Given the description of an element on the screen output the (x, y) to click on. 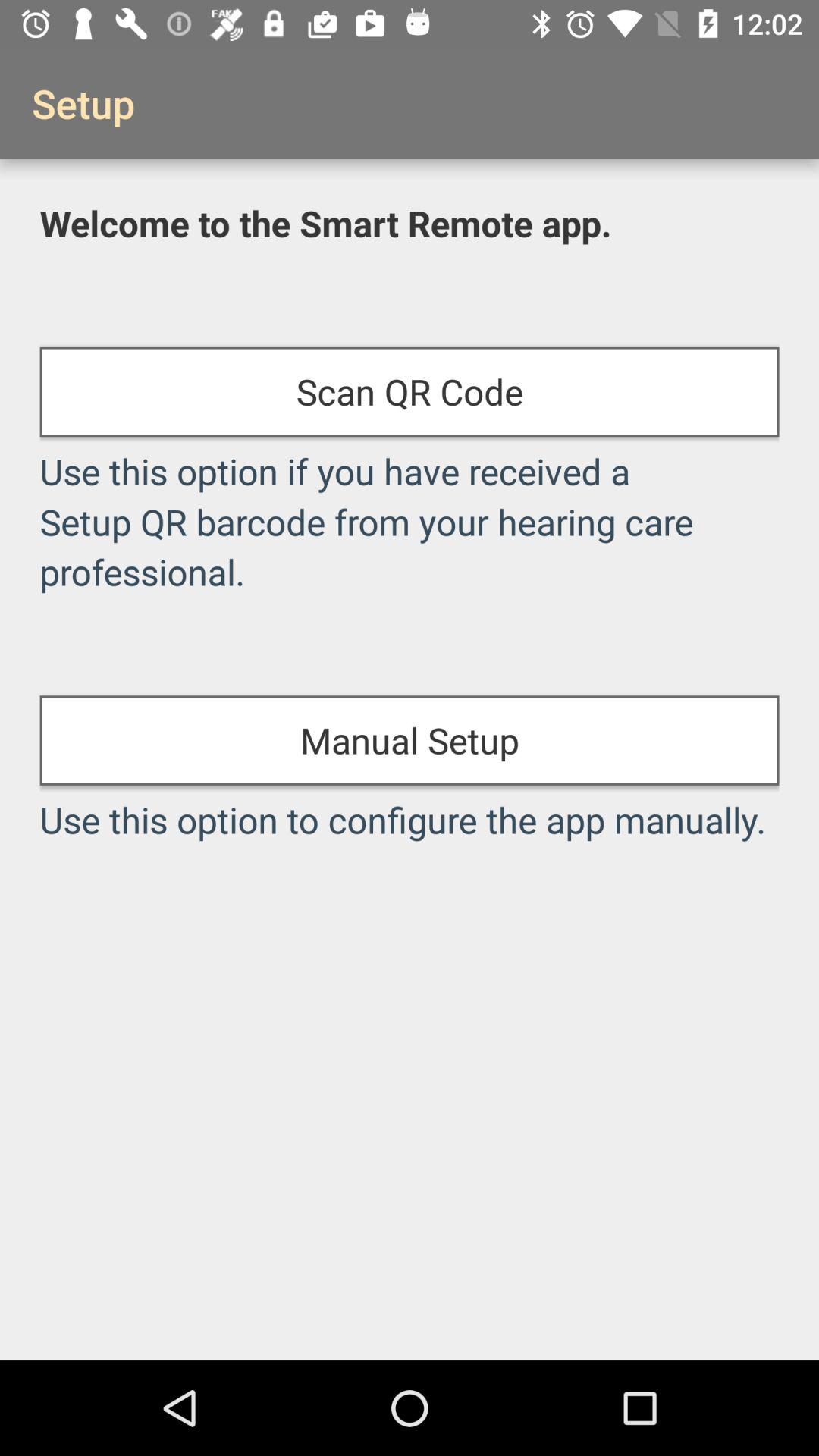
swipe to manual setup (409, 740)
